Given the description of an element on the screen output the (x, y) to click on. 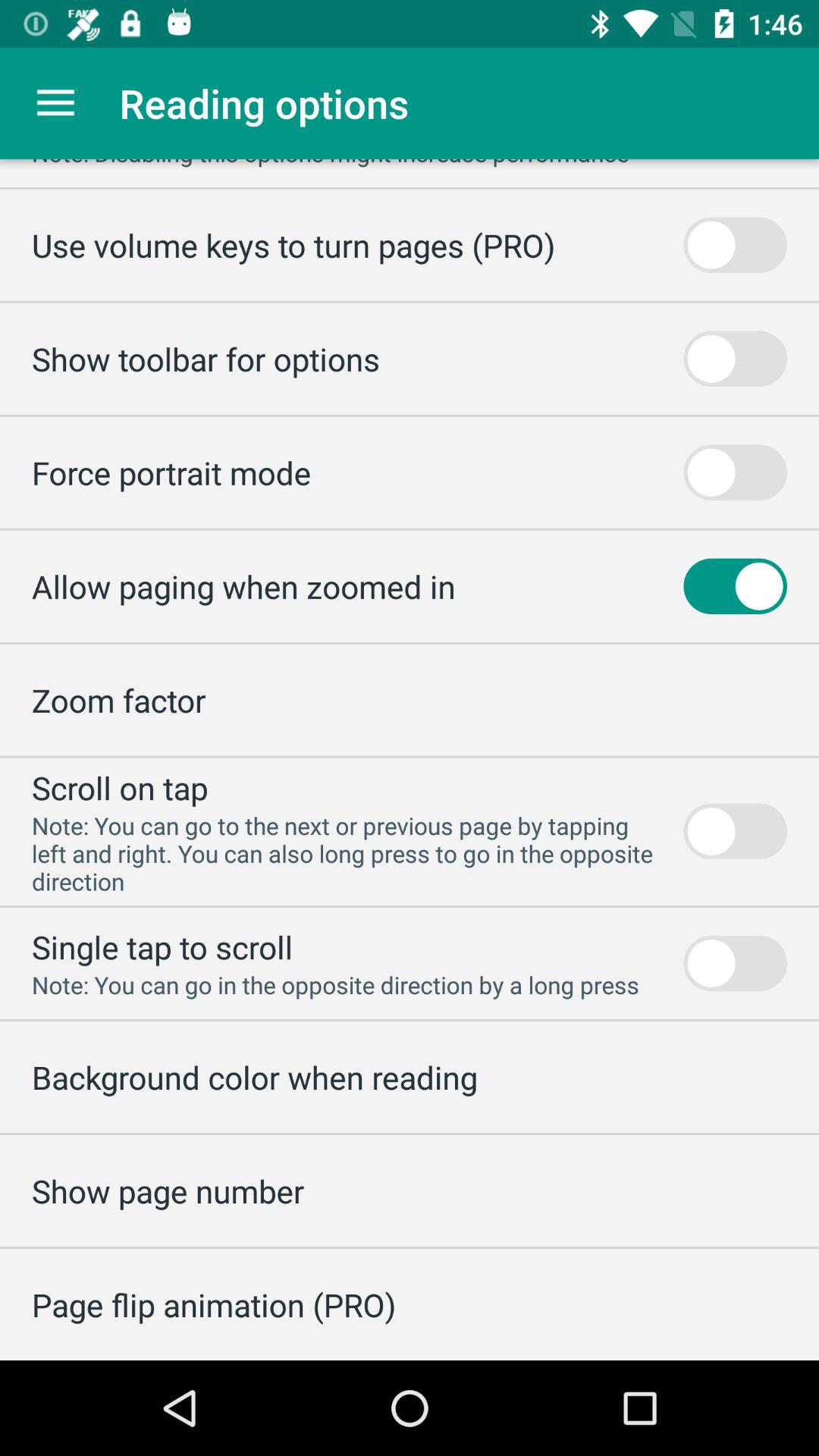
press item above zoom factor icon (243, 585)
